Given the description of an element on the screen output the (x, y) to click on. 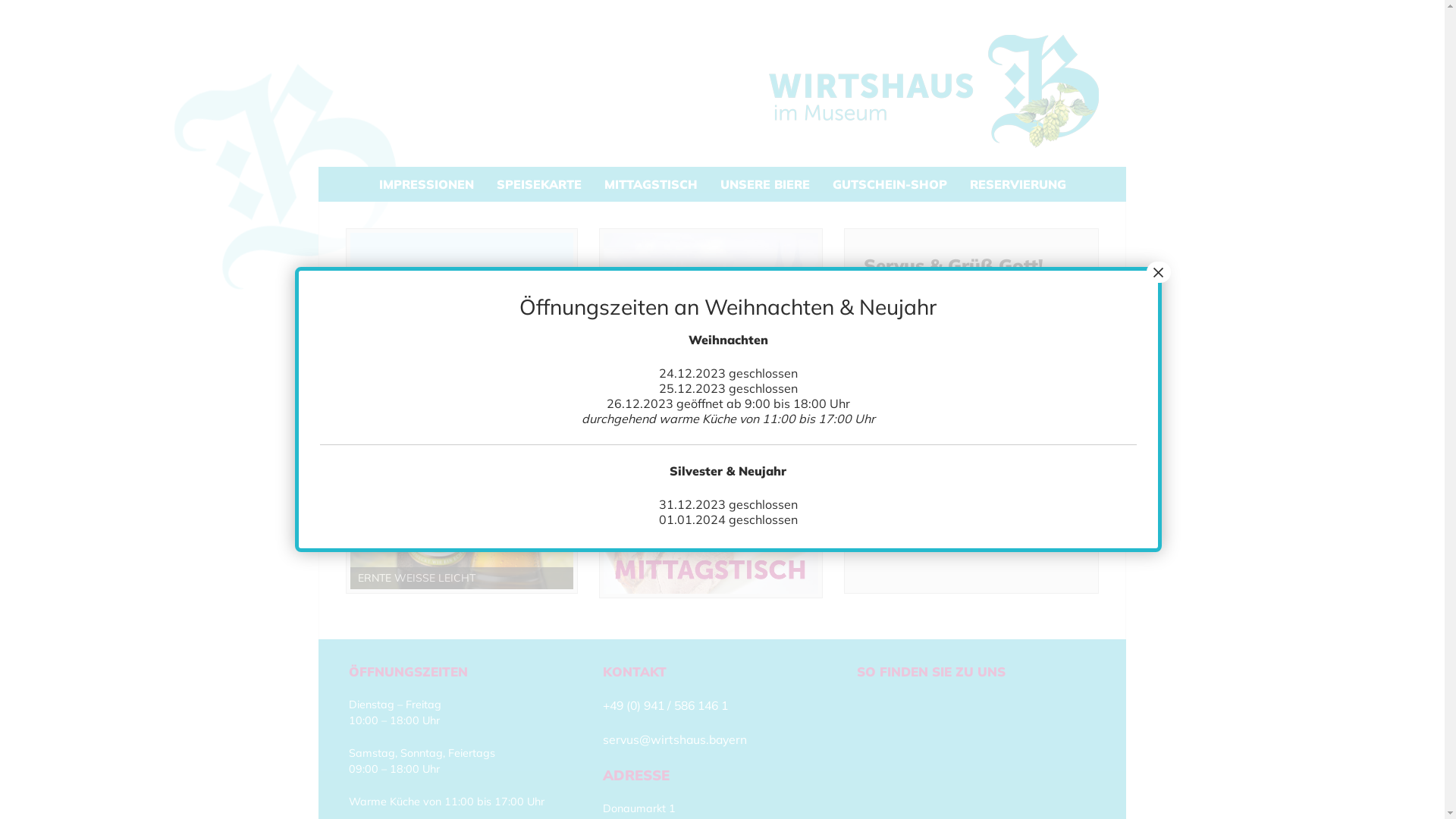
+49 (0) 941 / 586 146 1 Element type: text (665, 704)
Zum Inhalt springen Element type: text (317, 14)
IMPRESSIONEN Element type: text (425, 183)
UNSERE BIERE Element type: text (764, 183)
Wirtshaus im Museum Element type: hover (933, 90)
ernte-weisse Element type: hover (461, 410)
RESERVIERUNG Element type: text (1017, 183)
SPEISEKARTE Element type: text (539, 183)
GUTSCHEIN-SHOP Element type: text (888, 183)
E-Mail Element type: text (977, 377)
MITTAGSTISCH Element type: text (651, 183)
servus@wirtshaus.bayern Element type: text (674, 738)
